Given the description of an element on the screen output the (x, y) to click on. 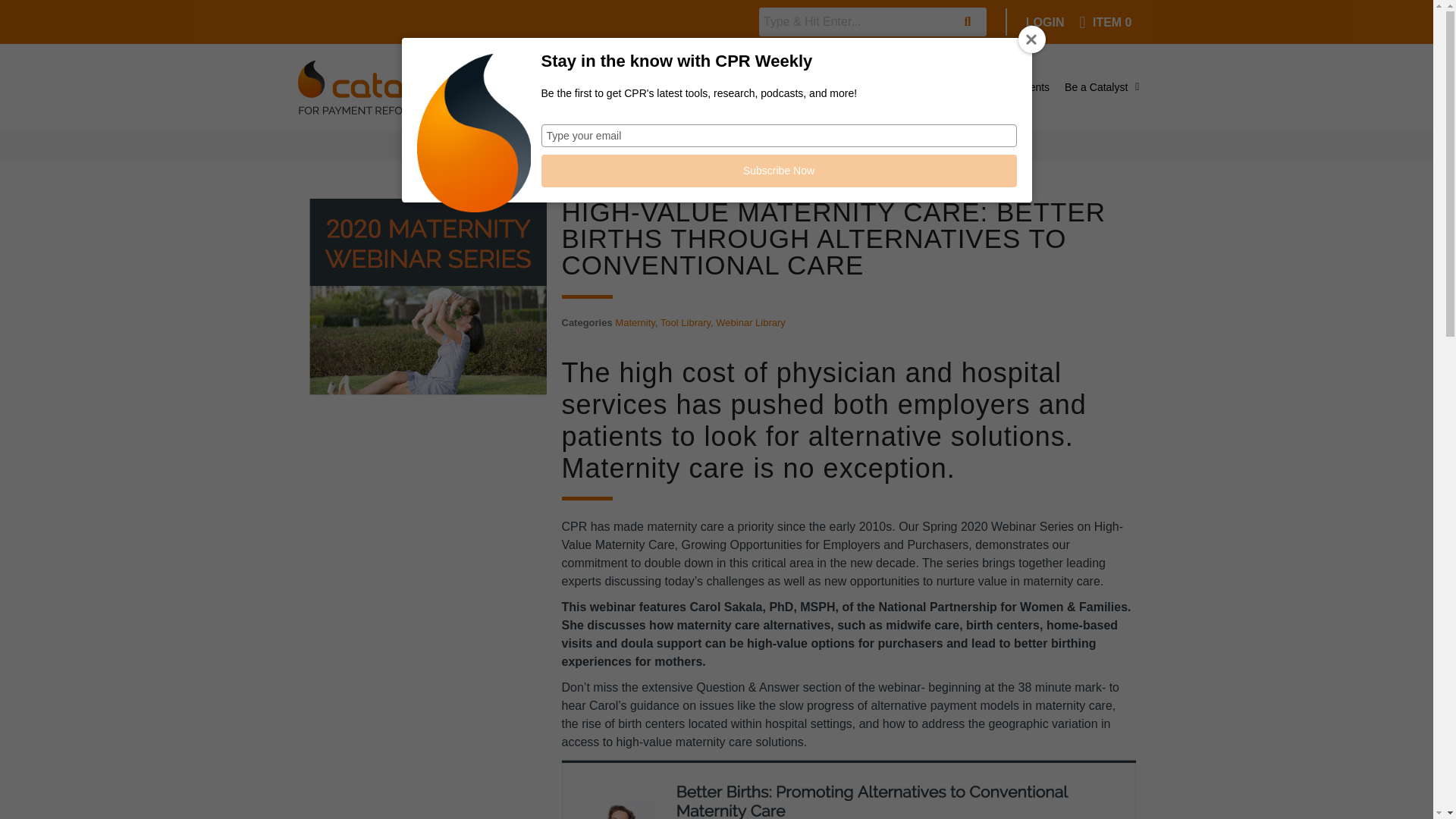
Be a Catalyst (1102, 87)
Catalyst Commentary (894, 87)
Tool Library (685, 322)
About Us (687, 87)
Maternity (634, 322)
Upcoming Events (1007, 87)
Resource Library (775, 87)
ITEM 0 (1104, 21)
LOGIN (1045, 21)
Search (853, 21)
Webinar Library (751, 322)
